Given the description of an element on the screen output the (x, y) to click on. 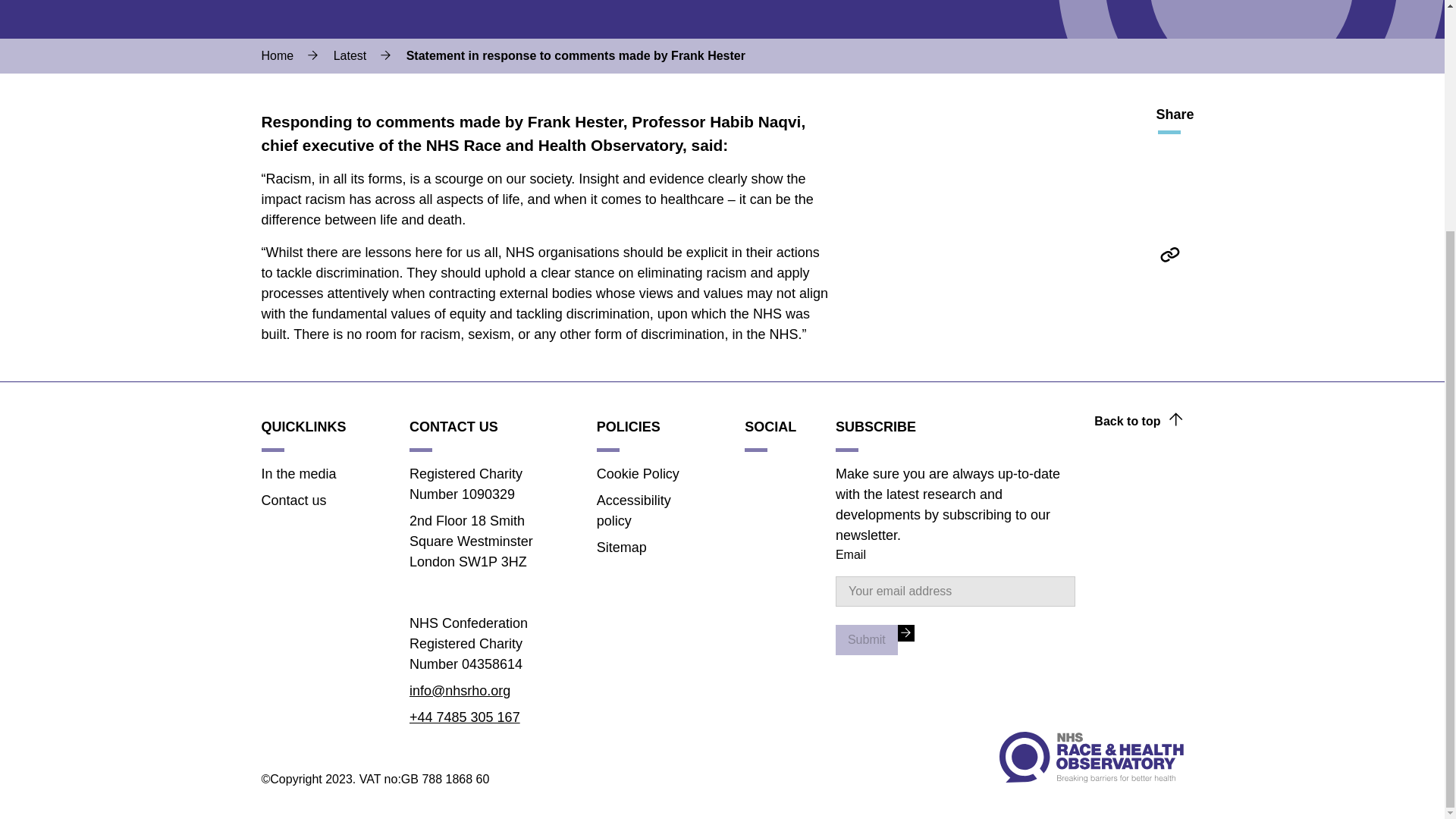
Facebook (1169, 189)
Twitter (755, 475)
Linkedin (755, 502)
Email (1169, 287)
Twitter (1169, 156)
Youtube (755, 529)
